Given the description of an element on the screen output the (x, y) to click on. 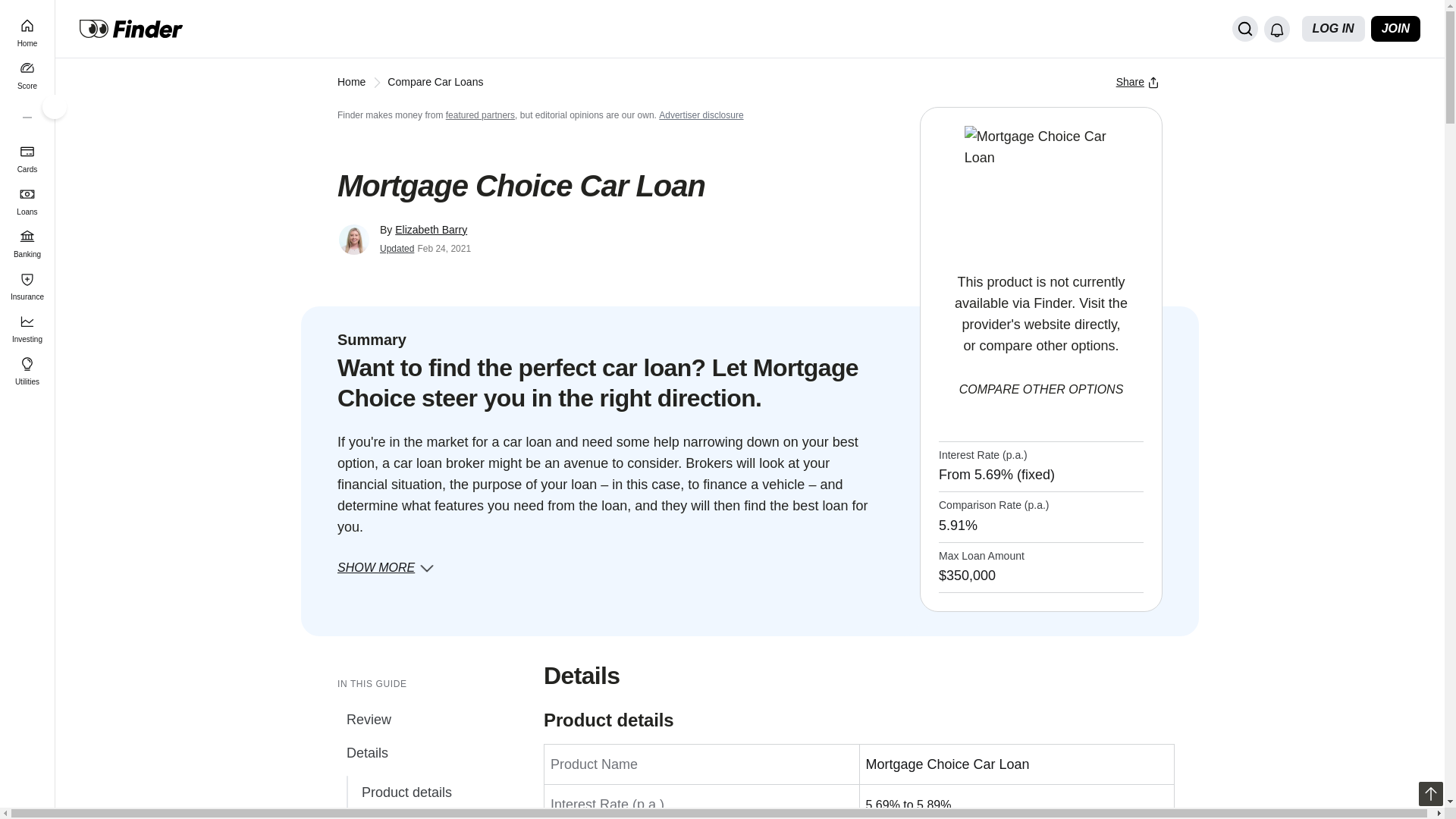
COMPARE OTHER OPTIONS (1040, 389)
Important information about this website (700, 114)
